Given the description of an element on the screen output the (x, y) to click on. 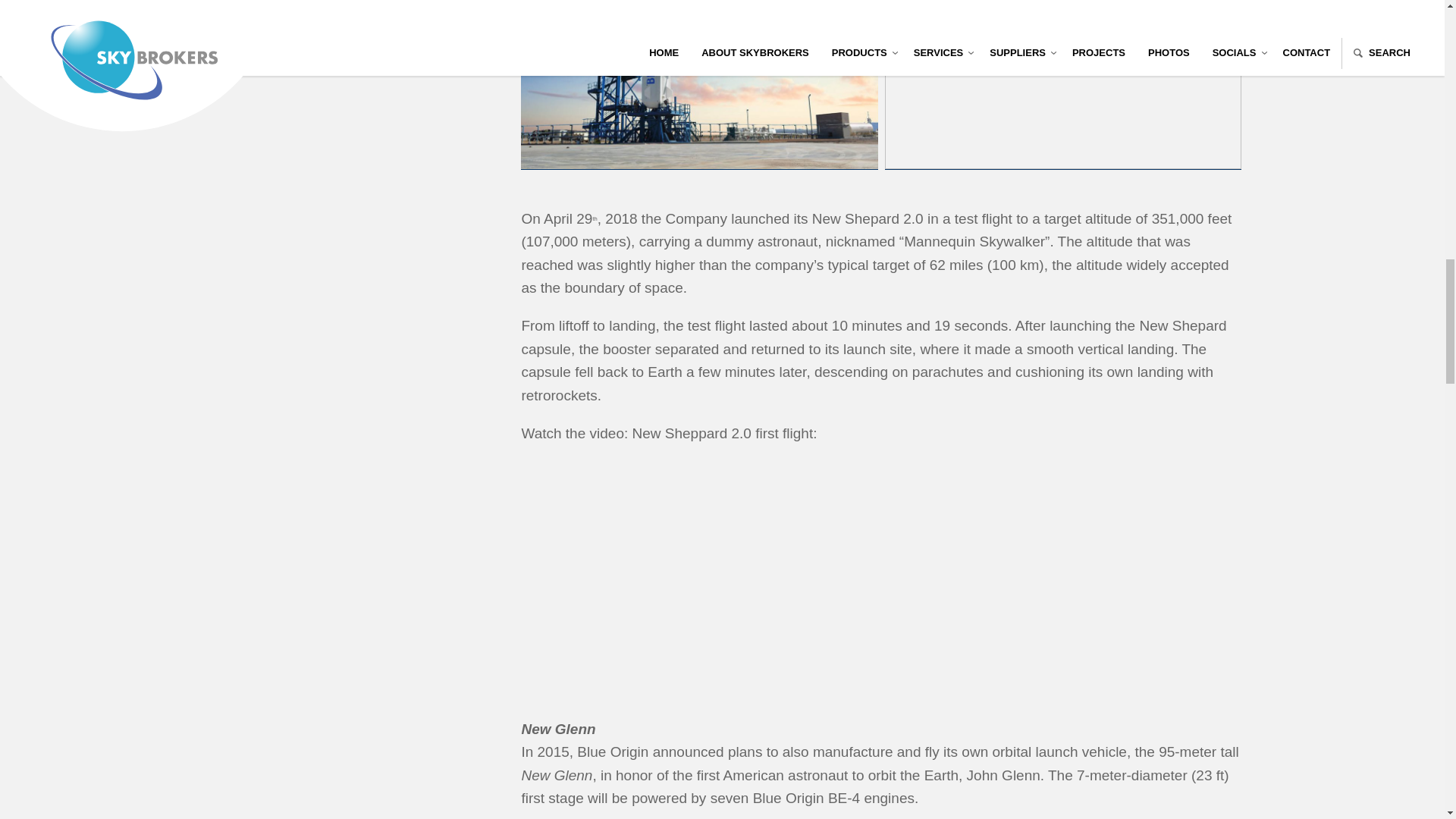
First Flight (710, 566)
